Given the description of an element on the screen output the (x, y) to click on. 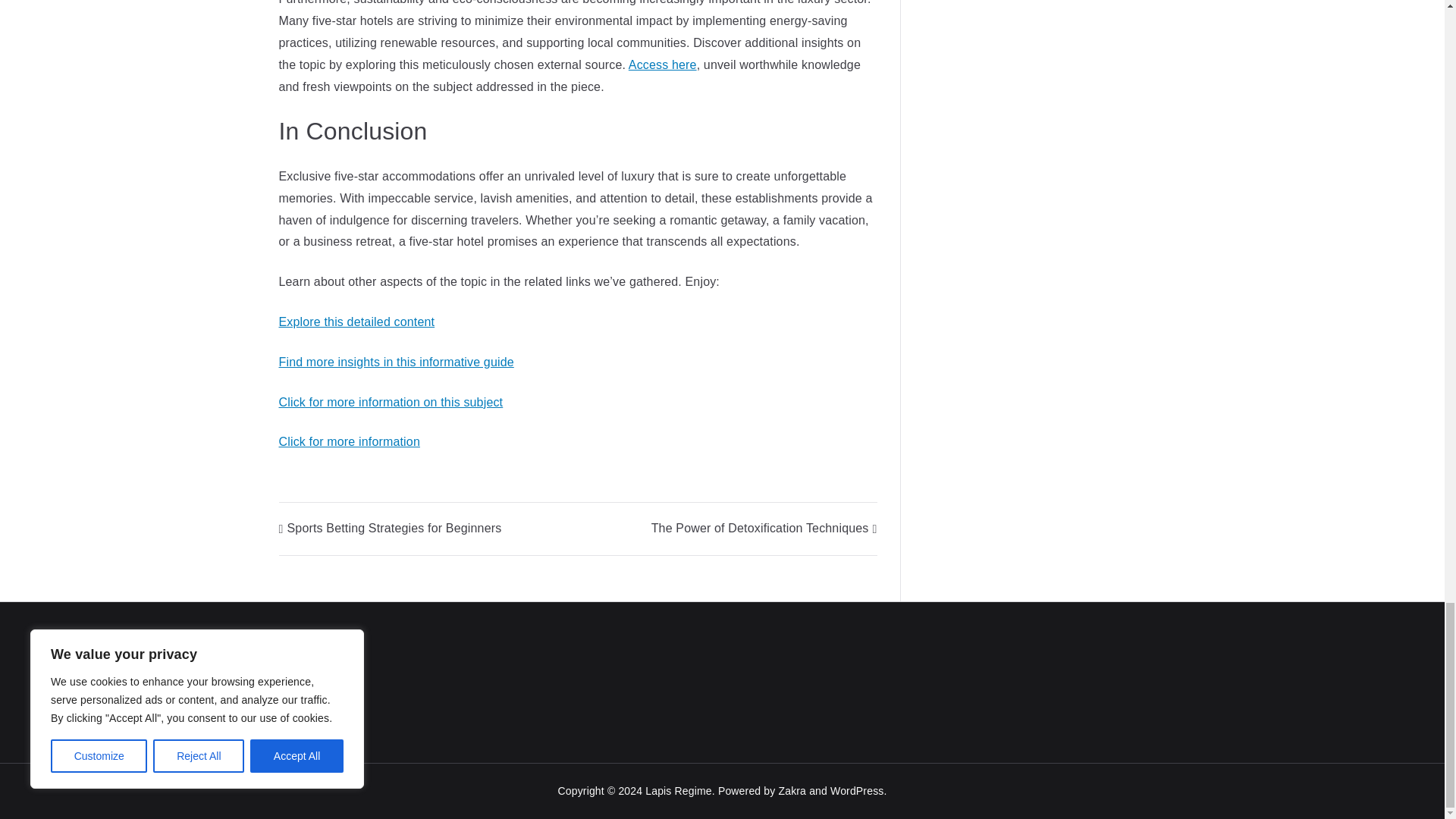
Click for more information (349, 440)
Access here (662, 64)
Click for more information on this subject (391, 400)
Lapis Regime (678, 790)
Explore this detailed content (357, 321)
WordPress (856, 790)
The Power of Detoxification Techniques (763, 527)
Find more insights in this informative guide (396, 361)
Zakra (791, 790)
Sports Betting Strategies for Beginners (390, 527)
